Given the description of an element on the screen output the (x, y) to click on. 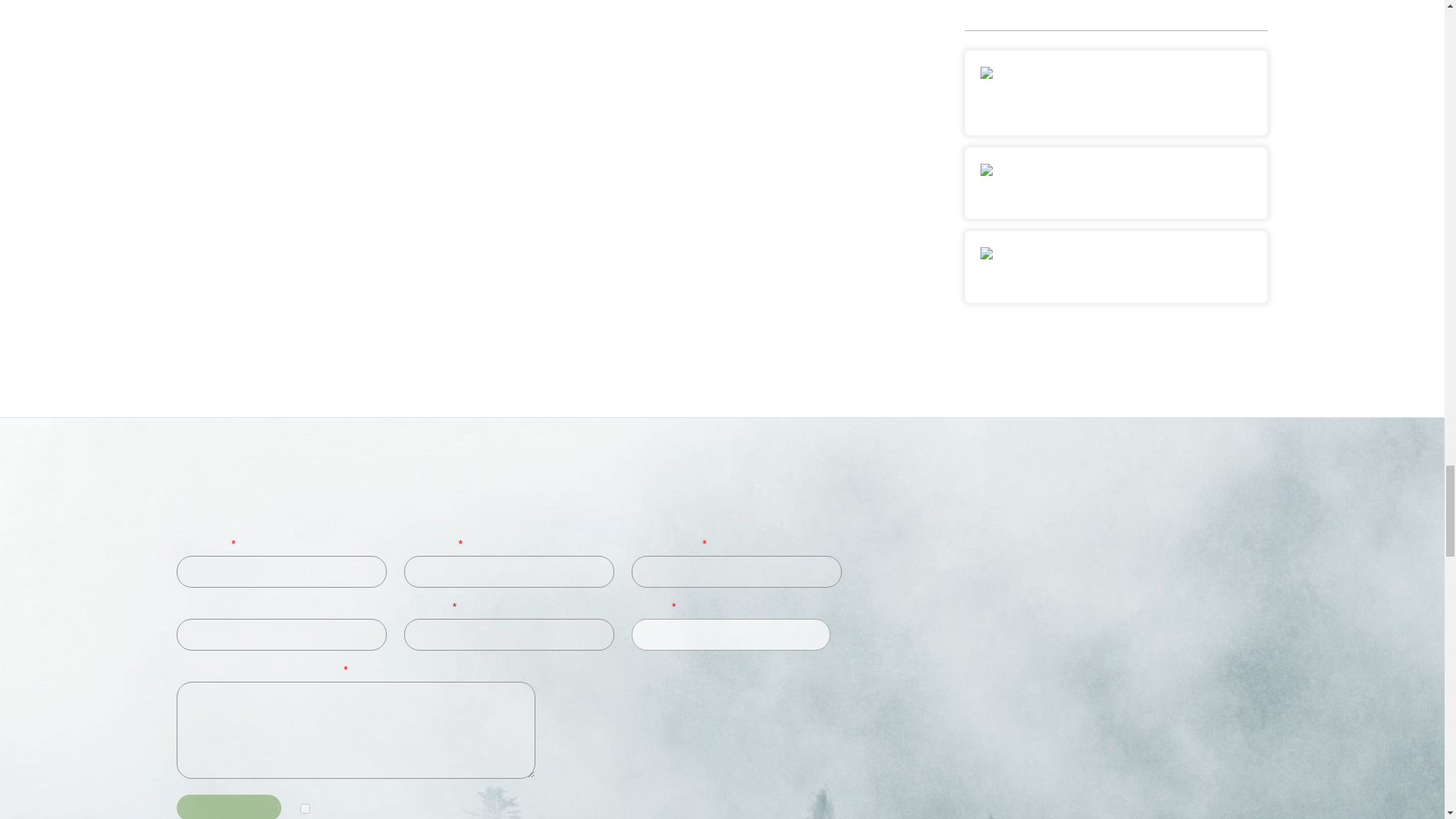
Yes (304, 808)
Submit (228, 806)
